Given the description of an element on the screen output the (x, y) to click on. 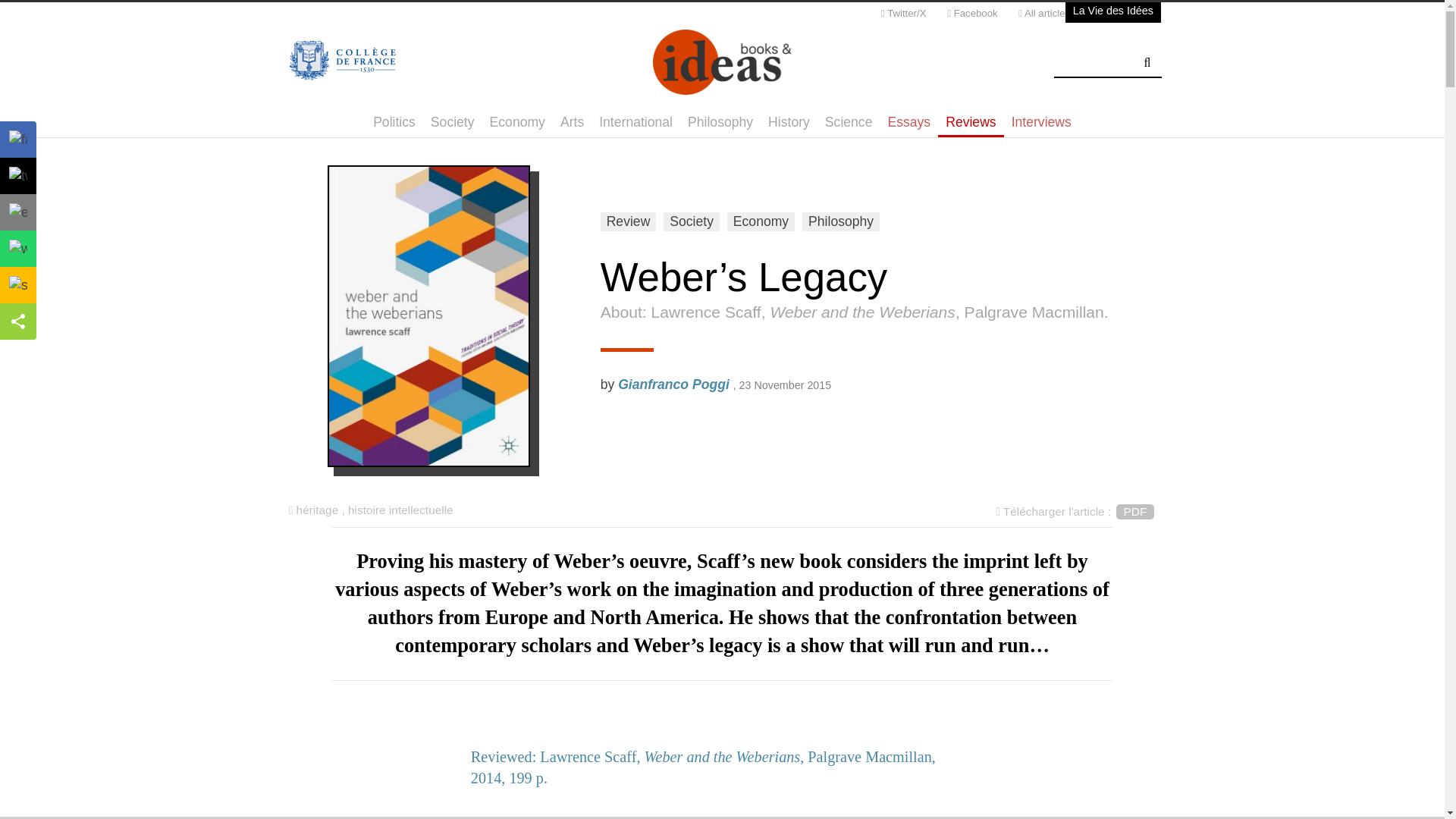
Economy (760, 221)
Interviews (1041, 122)
histoire intellectuelle (399, 509)
International (635, 122)
Politics (394, 122)
History (788, 122)
Philosophy (719, 122)
Society (452, 122)
PDF (1135, 511)
Society (691, 221)
Essays (908, 122)
Arts (572, 122)
Accueil (722, 62)
Economy (517, 122)
All articles (1043, 16)
